Given the description of an element on the screen output the (x, y) to click on. 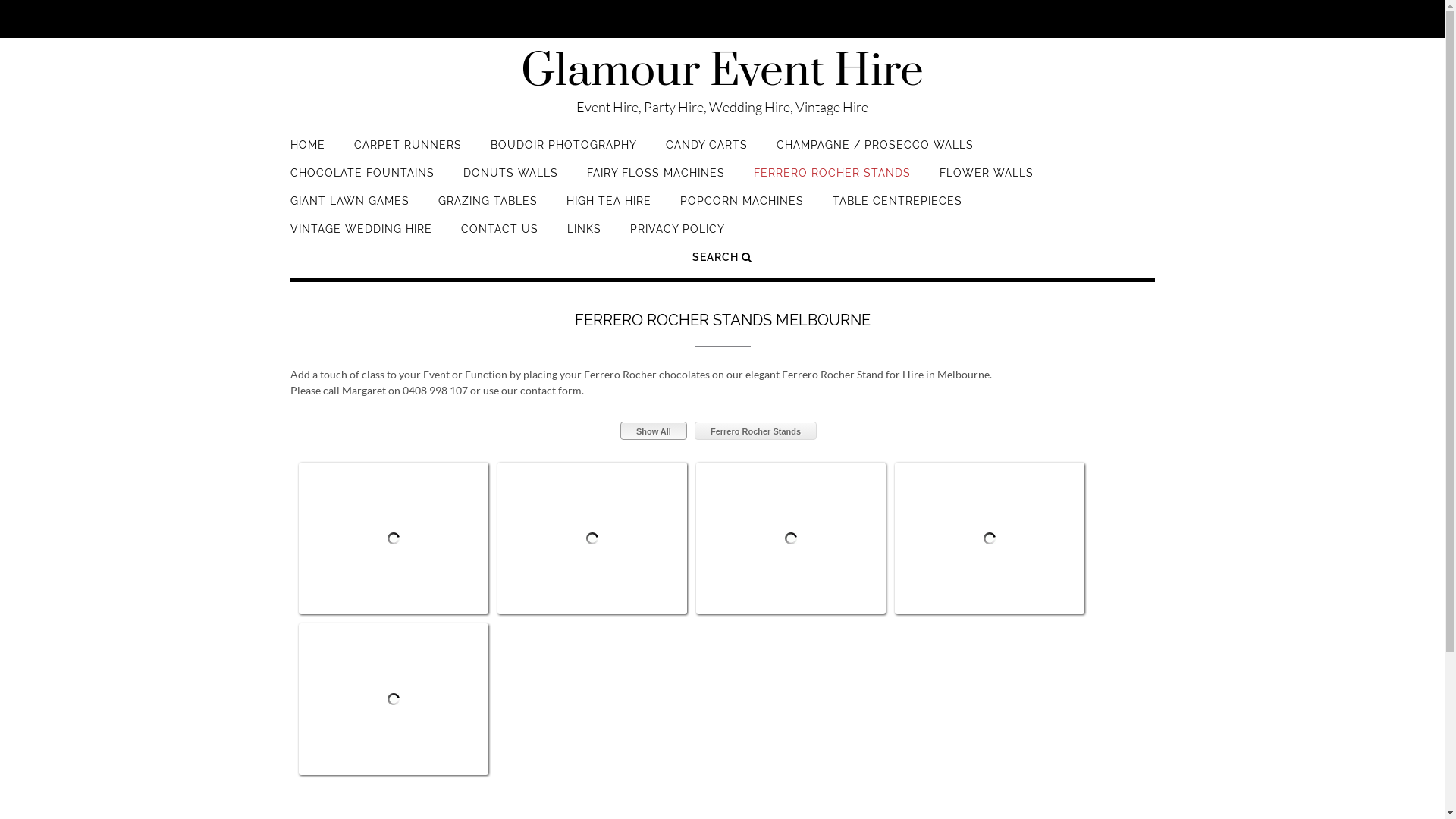
HOME Element type: text (306, 152)
CONTACT US Element type: text (499, 236)
SEARCH Element type: text (722, 264)
Ferrero Rocher Stand 4 Element type: hover (988, 466)
GIANT LAWN GAMES Element type: text (348, 208)
GRAZING TABLES Element type: text (487, 208)
DONUTS WALLS Element type: text (509, 180)
TABLE CENTREPIECES Element type: text (897, 208)
POPCORN MACHINES Element type: text (741, 208)
CHOCOLATE FOUNTAINS Element type: text (361, 180)
CHAMPAGNE / PROSECCO WALLS Element type: text (874, 152)
Ferrero Rocher Stand 2 Element type: hover (591, 466)
FAIRY FLOSS MACHINES Element type: text (655, 180)
VINTAGE WEDDING HIRE Element type: text (360, 236)
FERRERO ROCHER STANDS Element type: text (831, 180)
HIGH TEA HIRE Element type: text (607, 208)
FLOWER WALLS Element type: text (985, 180)
CARPET RUNNERS Element type: text (407, 152)
Glamour Event Hire Element type: text (721, 71)
BOUDOIR PHOTOGRAPHY Element type: text (562, 152)
Ferrero Rocher Stand 3 Element type: hover (790, 466)
Ferrero Rocher Stand 5 Element type: hover (392, 627)
PRIVACY POLICY Element type: text (676, 236)
CANDY CARTS Element type: text (706, 152)
LINKS Element type: text (584, 236)
Ferrero Rocher Stand 1 Element type: hover (392, 466)
